Given the description of an element on the screen output the (x, y) to click on. 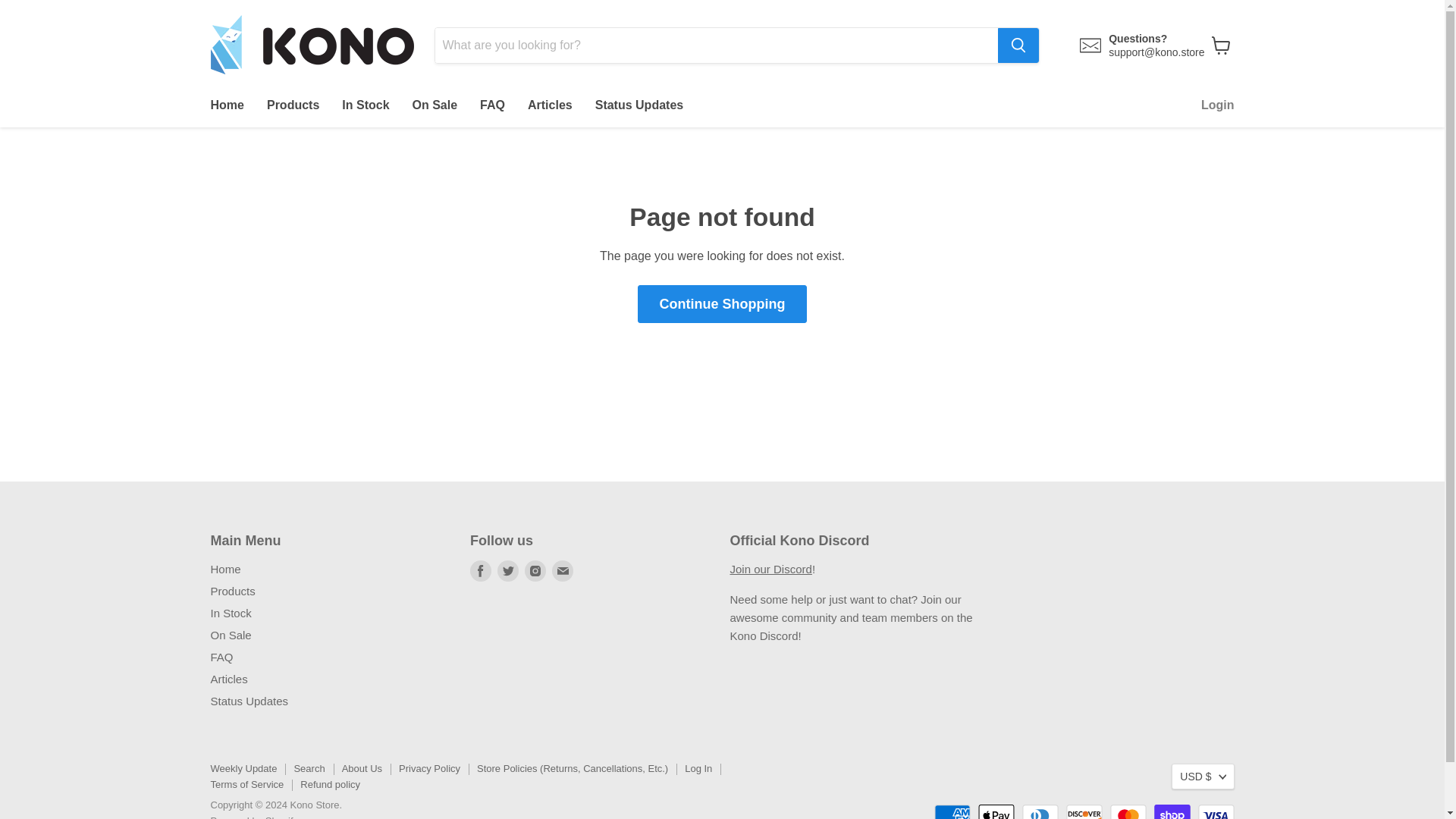
Products (233, 590)
Login (1217, 105)
In Stock (365, 105)
Email (562, 570)
American Express (952, 811)
Visa (1216, 811)
Twitter (507, 570)
Find us on Instagram (535, 570)
Continue Shopping (722, 304)
FAQ (492, 105)
